Given the description of an element on the screen output the (x, y) to click on. 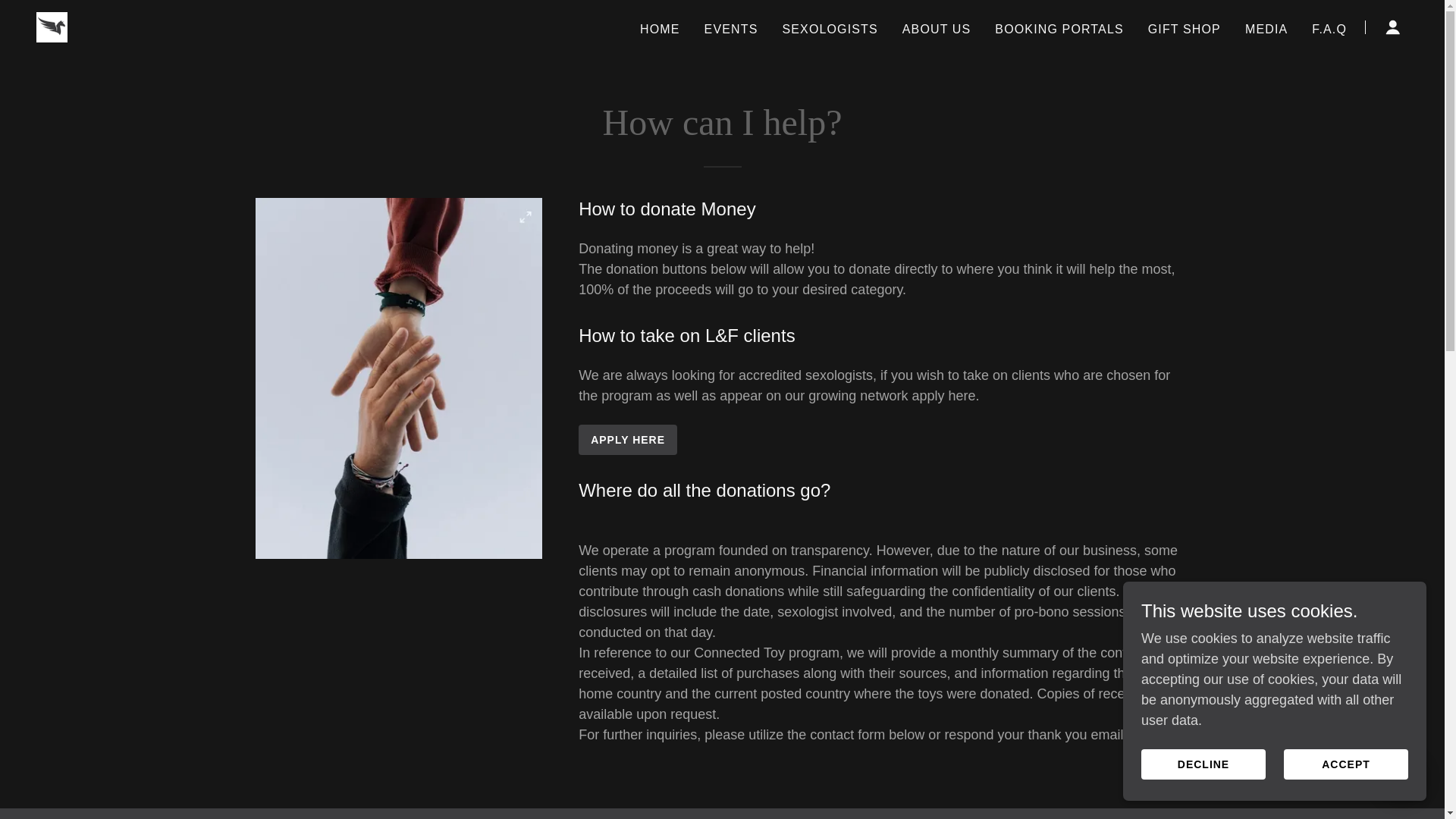
SEXOLOGISTS (829, 28)
F.A.Q (1329, 28)
HOME (659, 28)
Pegasus sexology  (51, 26)
GIFT SHOP (1183, 28)
MEDIA (1266, 28)
ABOUT US (936, 28)
BOOKING PORTALS (1058, 28)
EVENTS (731, 28)
APPLY HERE (627, 440)
